Given the description of an element on the screen output the (x, y) to click on. 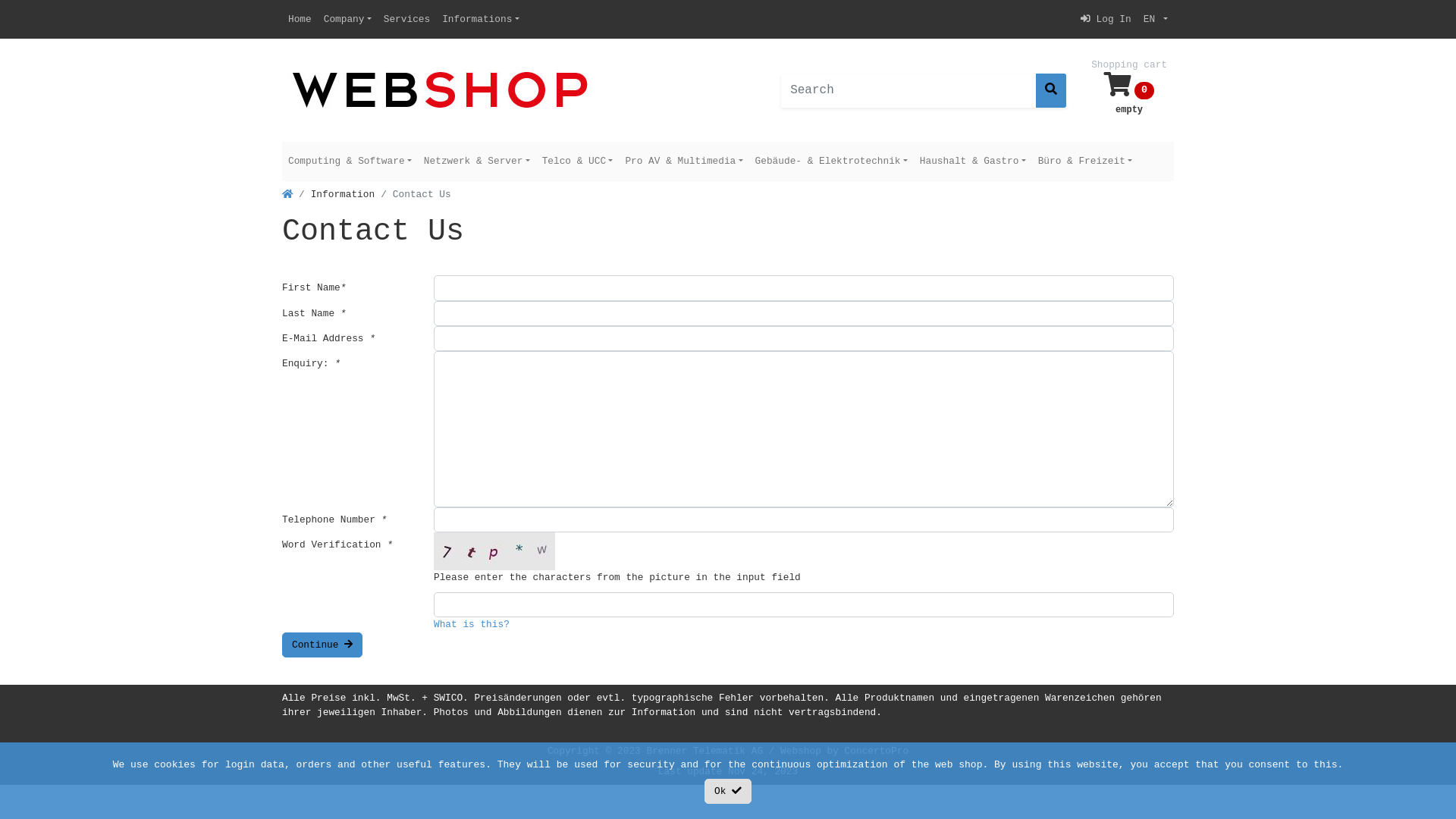
Haushalt & Gastro Element type: text (972, 160)
Netzwerk & Server Element type: text (476, 160)
Pro AV & Multimedia Element type: text (683, 160)
Informations Element type: text (480, 19)
Continue Element type: text (322, 644)
Telco & UCC Element type: text (577, 160)
search Element type: hover (1050, 90)
EN Element type: text (1155, 19)
ConcertoPro Element type: text (876, 750)
Log In Element type: text (1105, 19)
Company Element type: text (347, 19)
Home Element type: text (299, 19)
What is this? Element type: text (471, 624)
Brenner Telematik AG Element type: text (704, 750)
Webshop Element type: text (800, 750)
Ok Element type: text (727, 790)
Computing & Software Element type: text (349, 160)
Services Element type: text (406, 19)
Shopping cart
0
empty Element type: text (1128, 89)
